Given the description of an element on the screen output the (x, y) to click on. 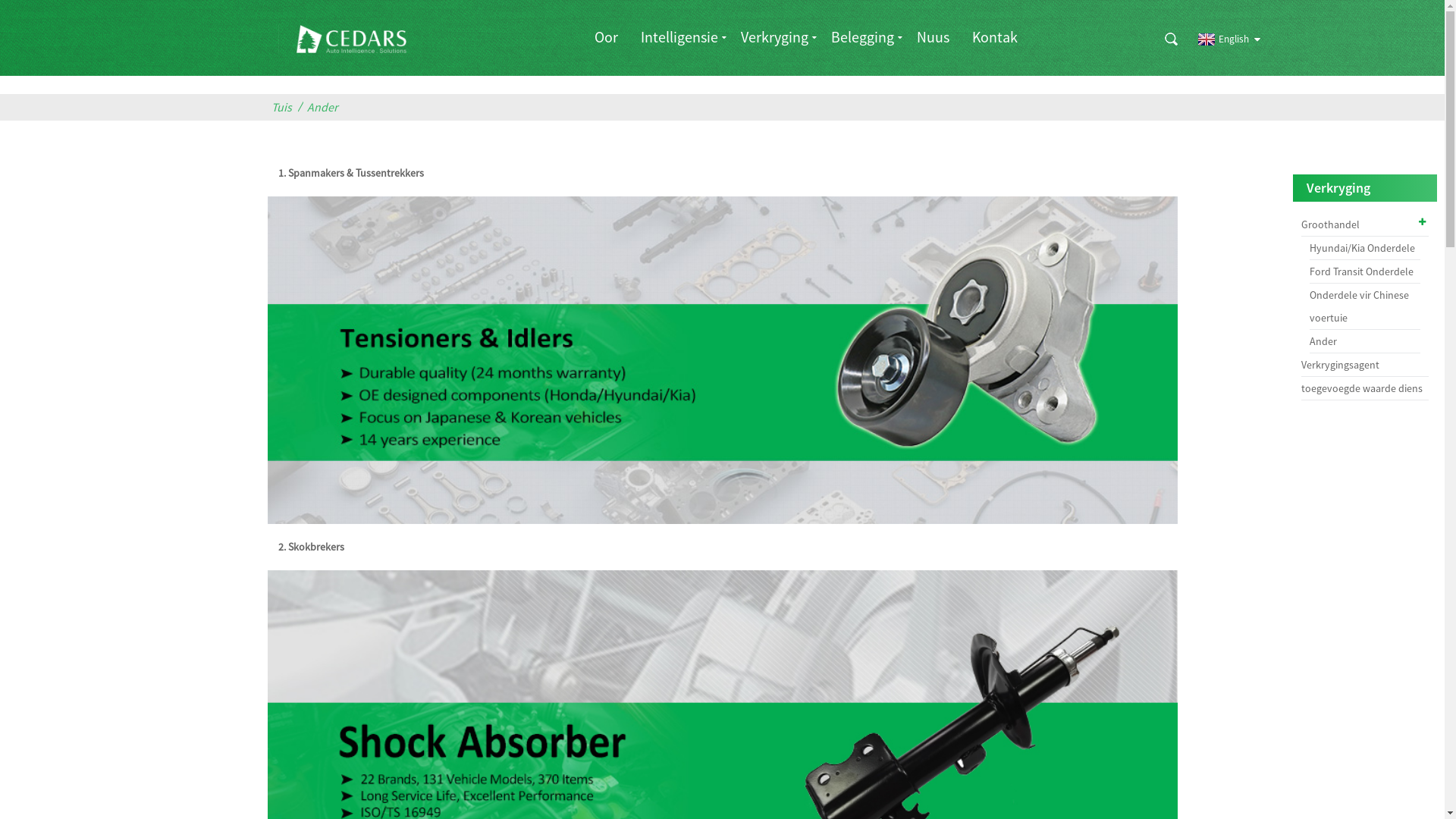
English Element type: text (1220, 39)
Tuis Element type: text (284, 107)
Verkrygingsagent Element type: text (1365, 364)
Hyundai/Kia Onderdele Element type: text (1364, 248)
Onderdele vir Chinese voertuie Element type: text (1364, 306)
Groothandel Element type: text (1365, 224)
Oor Element type: text (606, 36)
Belegging Element type: text (862, 36)
Verkryging Element type: text (774, 36)
Ander Element type: text (326, 107)
toegevoegde waarde diens Element type: text (1365, 388)
Ford Transit Onderdele Element type: text (1364, 271)
Ander Element type: text (1364, 341)
Nuus Element type: text (932, 36)
Intelligensie Element type: text (679, 36)
Kontak Element type: text (994, 36)
